Given the description of an element on the screen output the (x, y) to click on. 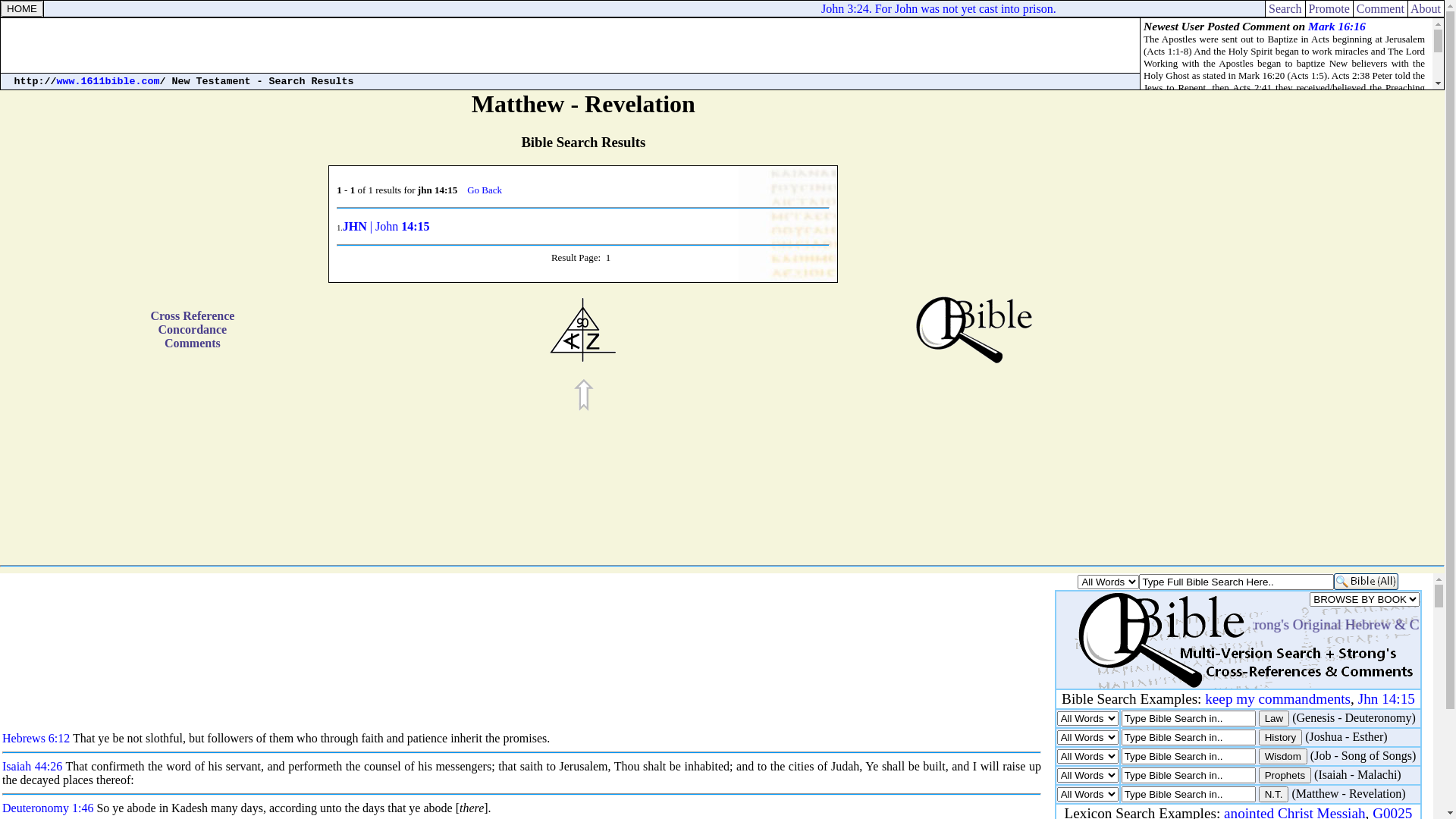
Advertisement Element type: hover (569, 45)
HOME Element type: text (21, 8)
 Promote  Element type: text (1328, 7)
Comments Element type: text (192, 342)
1611Bible.com Element type: hover (21, 8)
JHN | John 14:15 Element type: text (385, 226)
Go Back Element type: text (484, 189)
 Search  Element type: text (1285, 7)
Concordance Element type: text (192, 329)
John 3:24. For John was not yet cast into prison. Element type: text (955, 7)
www.1611bible.com Element type: text (108, 81)
 Comment  Element type: text (1380, 7)
Cross Reference Element type: text (192, 315)
 About  Element type: text (1425, 7)
Advertisement Element type: hover (1383, 330)
